Given the description of an element on the screen output the (x, y) to click on. 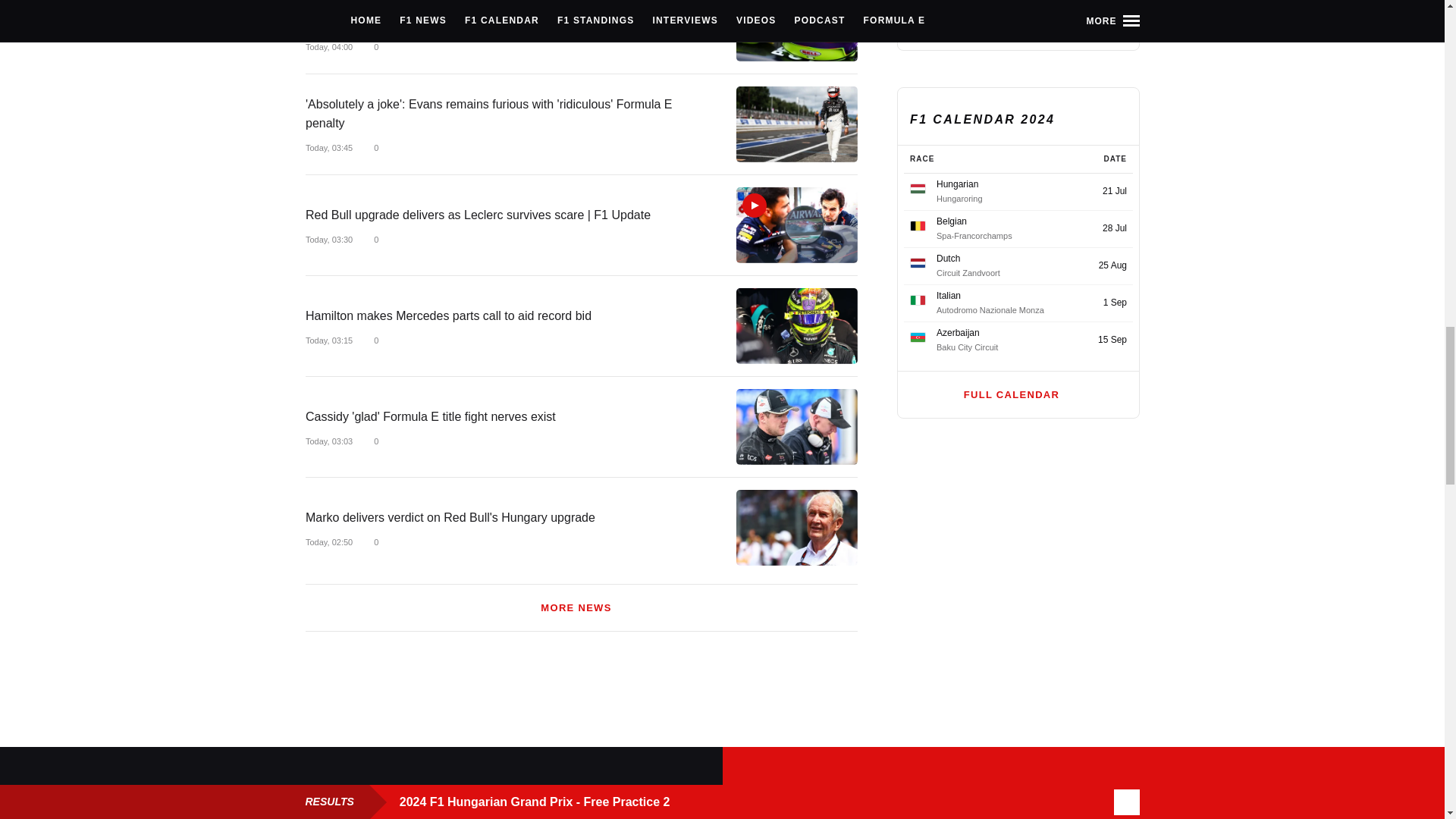
Saturday 20 July 2024 at 04:00 (328, 46)
